Given the description of an element on the screen output the (x, y) to click on. 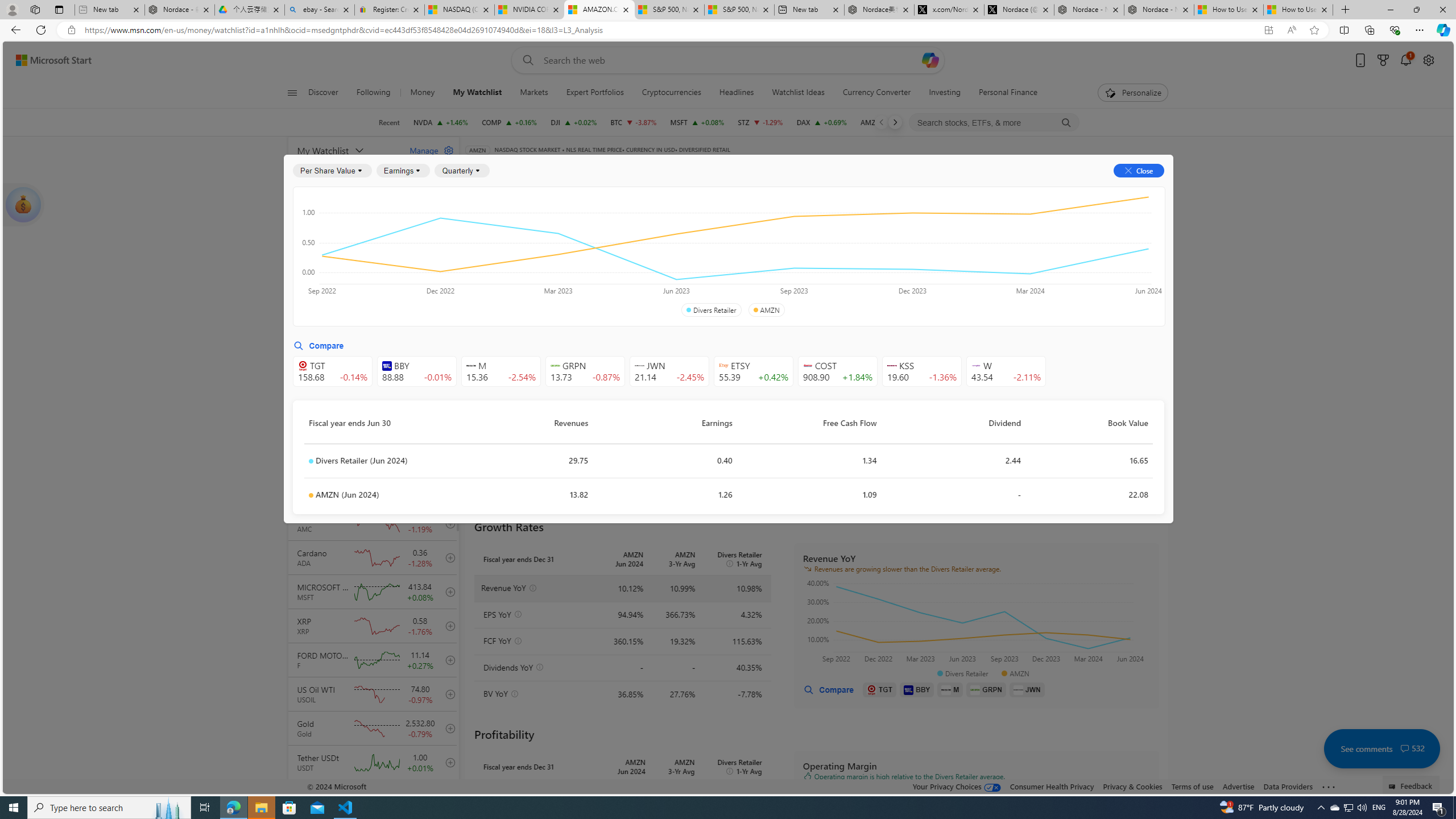
Skip to content (49, 59)
Analysis (901, 188)
Terms of use (1192, 785)
Investors (1009, 188)
Open settings (1427, 60)
Watchlist Ideas (797, 92)
NVDA NVIDIA CORPORATION increase 128.30 +1.84 +1.46% (441, 122)
Efficiency (850, 253)
Profitability (662, 253)
